Given the description of an element on the screen output the (x, y) to click on. 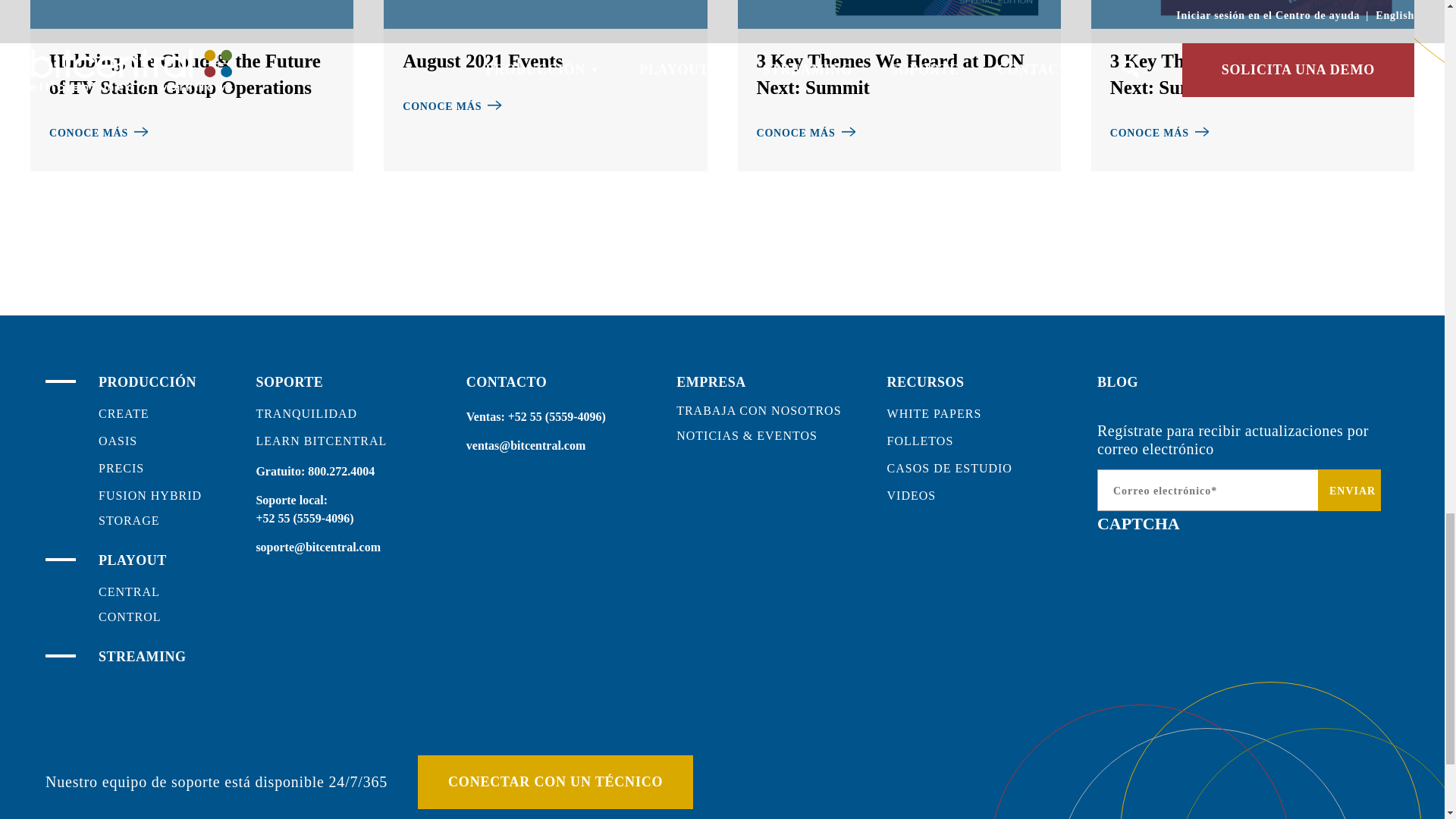
PRECIS (121, 468)
OASIS (117, 440)
FUSION HYBRID STORAGE (150, 507)
Enviar (1348, 490)
CREATE (123, 413)
